Given the description of an element on the screen output the (x, y) to click on. 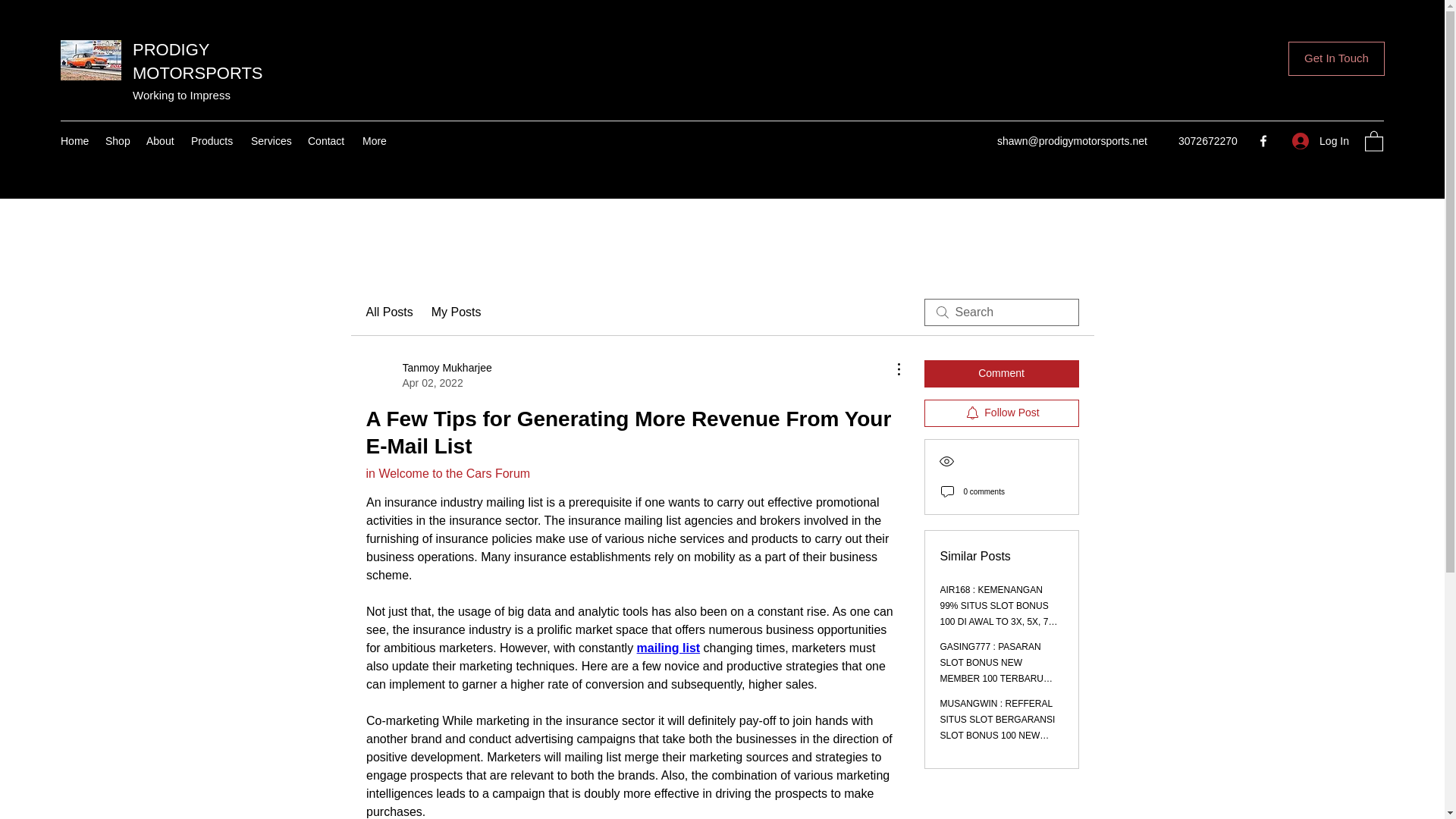
Comment (1000, 373)
My Posts (455, 312)
Contact (327, 140)
mailing list (668, 647)
in Welcome to the Cars Forum (447, 472)
Services (271, 140)
All Posts (388, 312)
Shop (117, 140)
PRODIGY MOTORSPORTS (428, 375)
Follow Post (197, 61)
Products (1000, 412)
Home (213, 140)
About (74, 140)
